Given the description of an element on the screen output the (x, y) to click on. 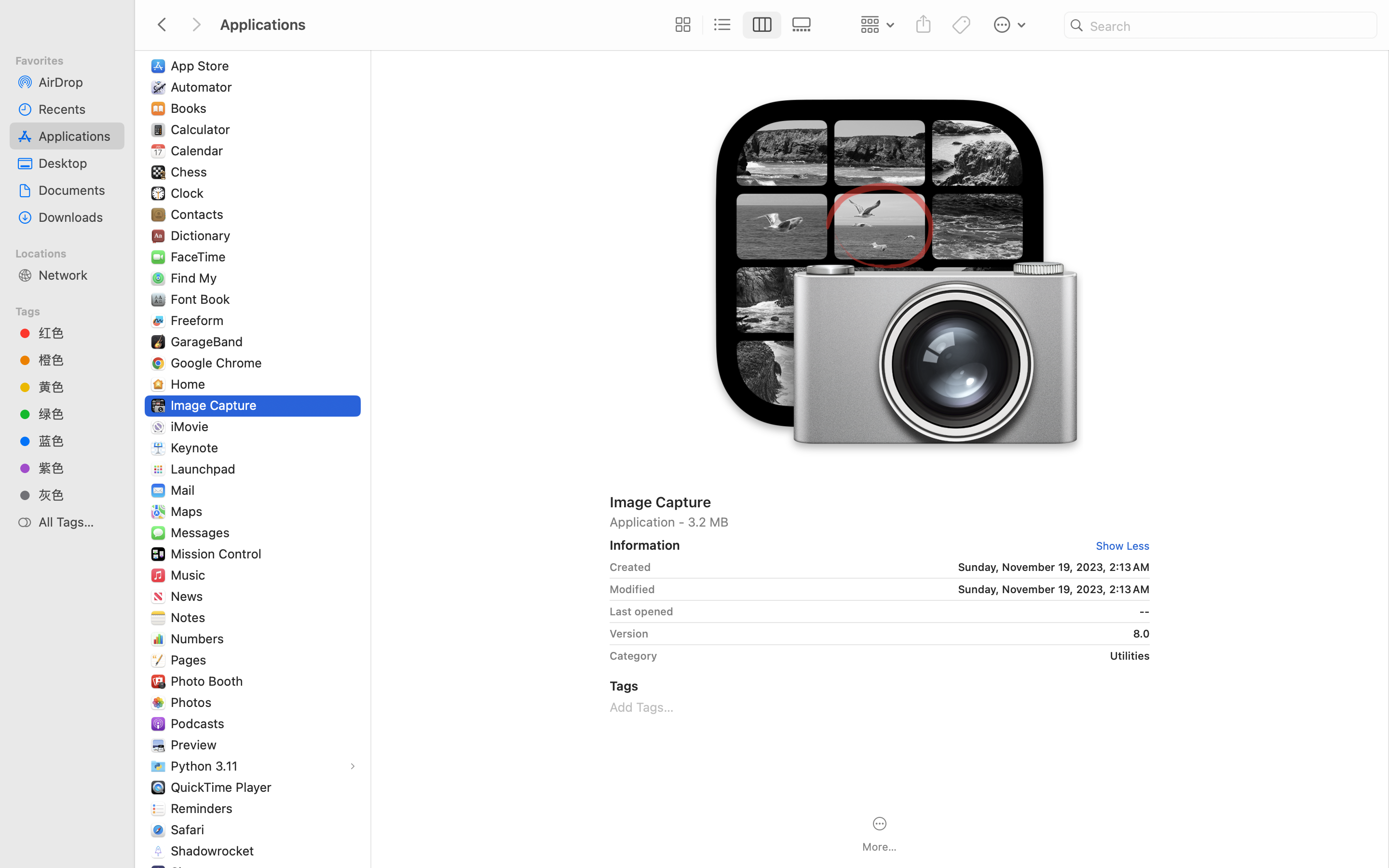
Mission Control Element type: AXTextField (218, 553)
1 Element type: AXCheckBox (1119, 545)
橙色 Element type: AXStaticText (77, 359)
Python 3.11 Element type: AXTextField (206, 765)
